Given the description of an element on the screen output the (x, y) to click on. 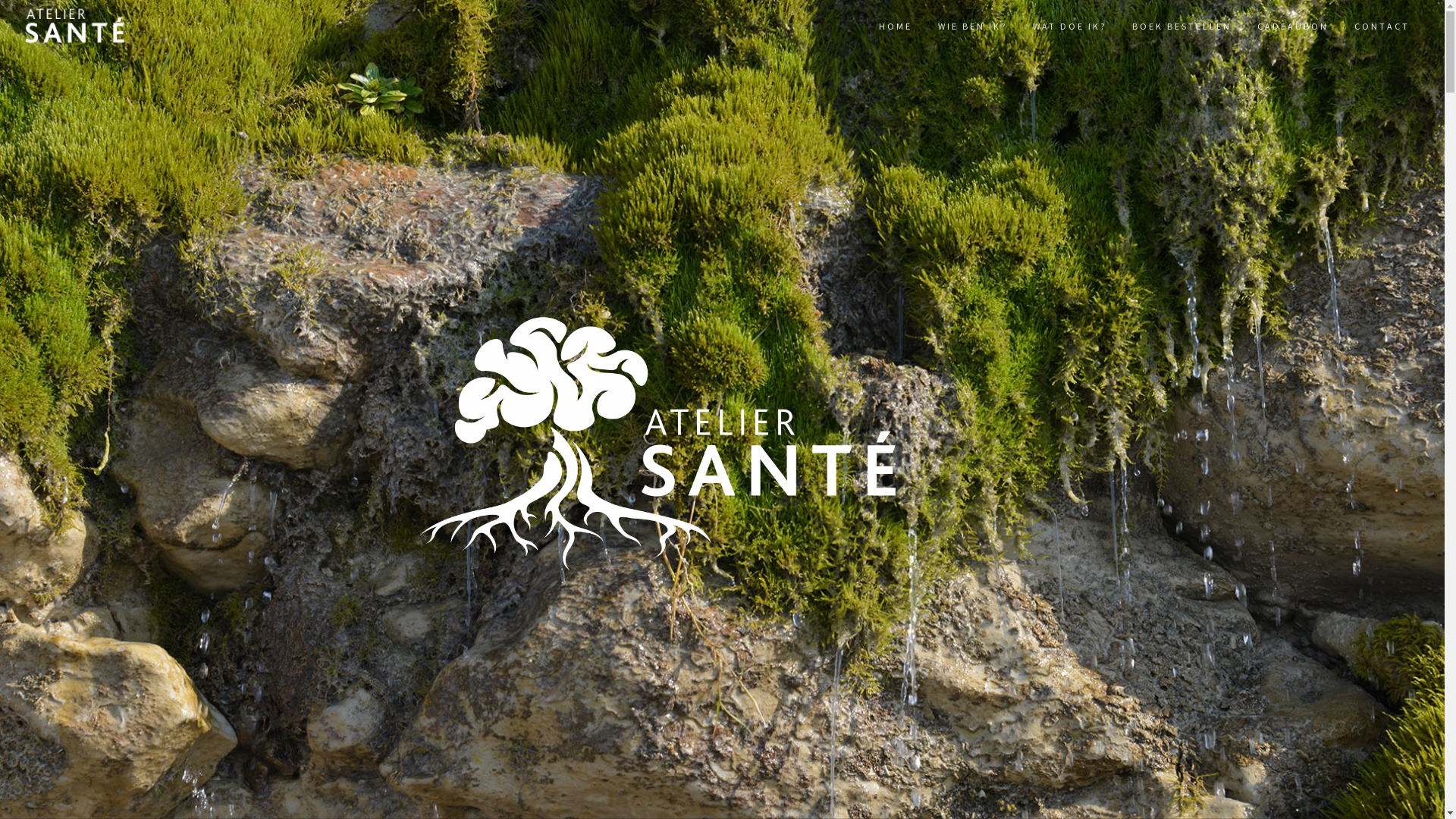
WIE BEN IK? Element type: text (972, 26)
WAT DOE IK? Element type: text (1069, 26)
HOME Element type: text (895, 26)
CADEAUBON Element type: text (1292, 26)
BOEK BESTELLEN Element type: text (1181, 26)
CONTACT Element type: text (1381, 26)
